Given the description of an element on the screen output the (x, y) to click on. 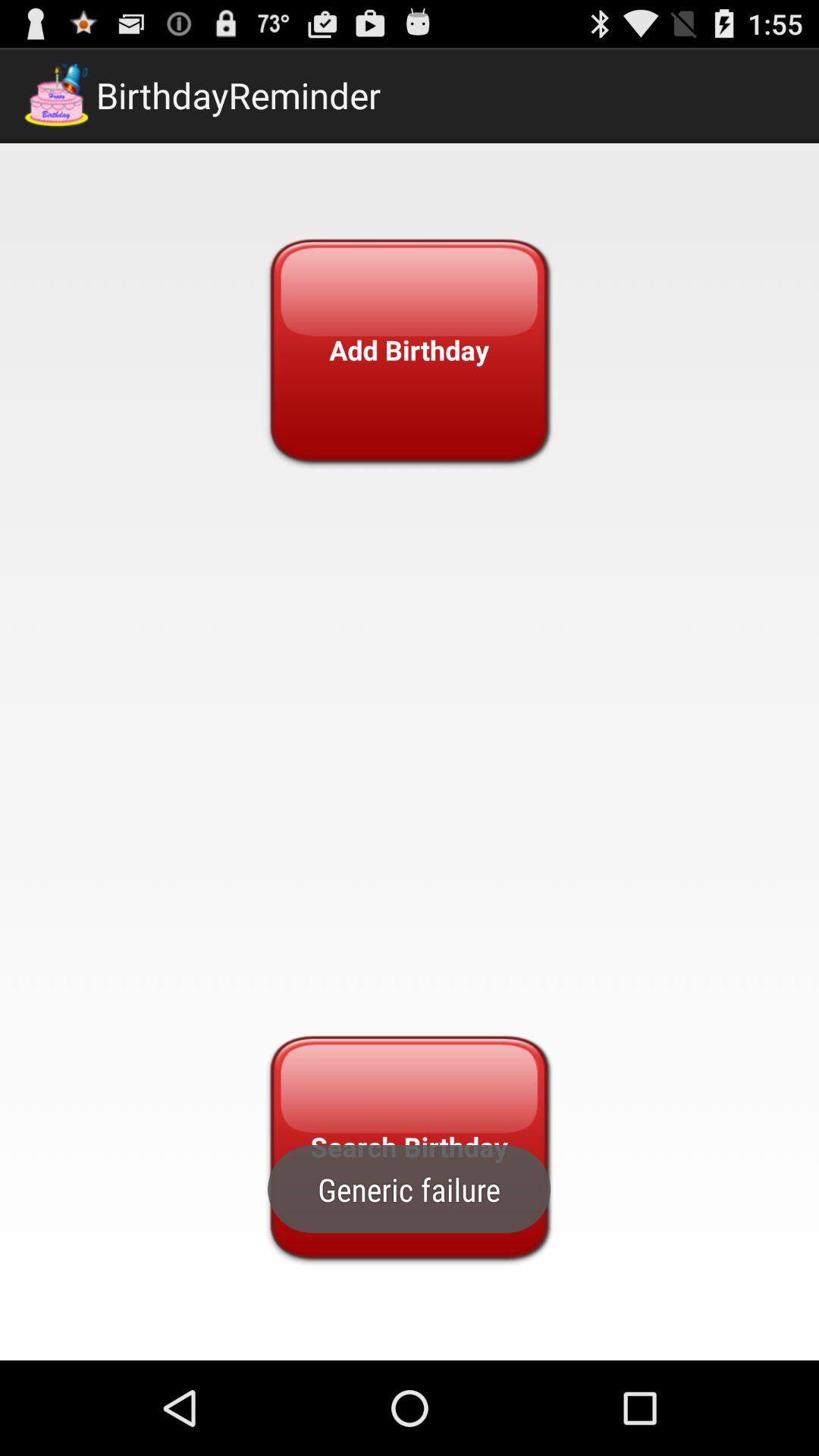
click icon at the top (408, 349)
